Given the description of an element on the screen output the (x, y) to click on. 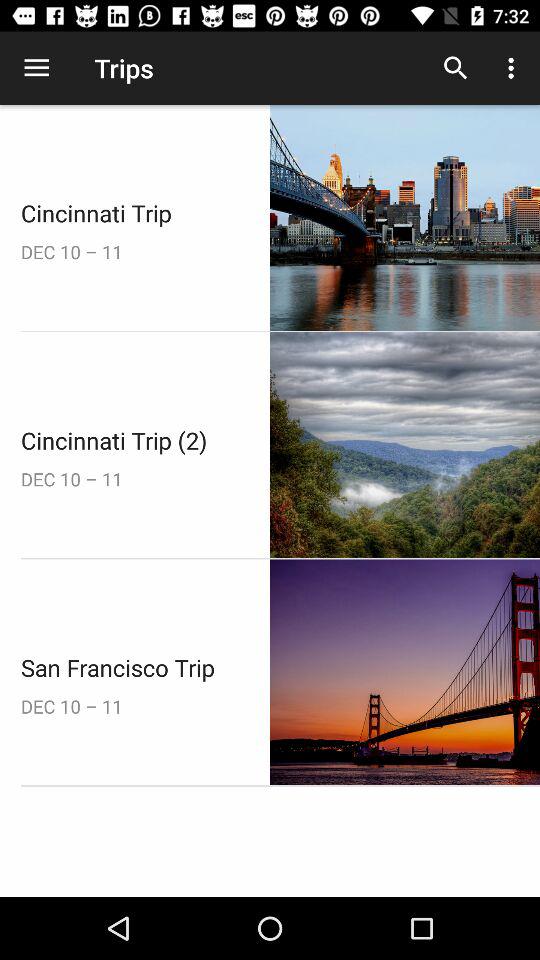
select the second image (405, 444)
